Given the description of an element on the screen output the (x, y) to click on. 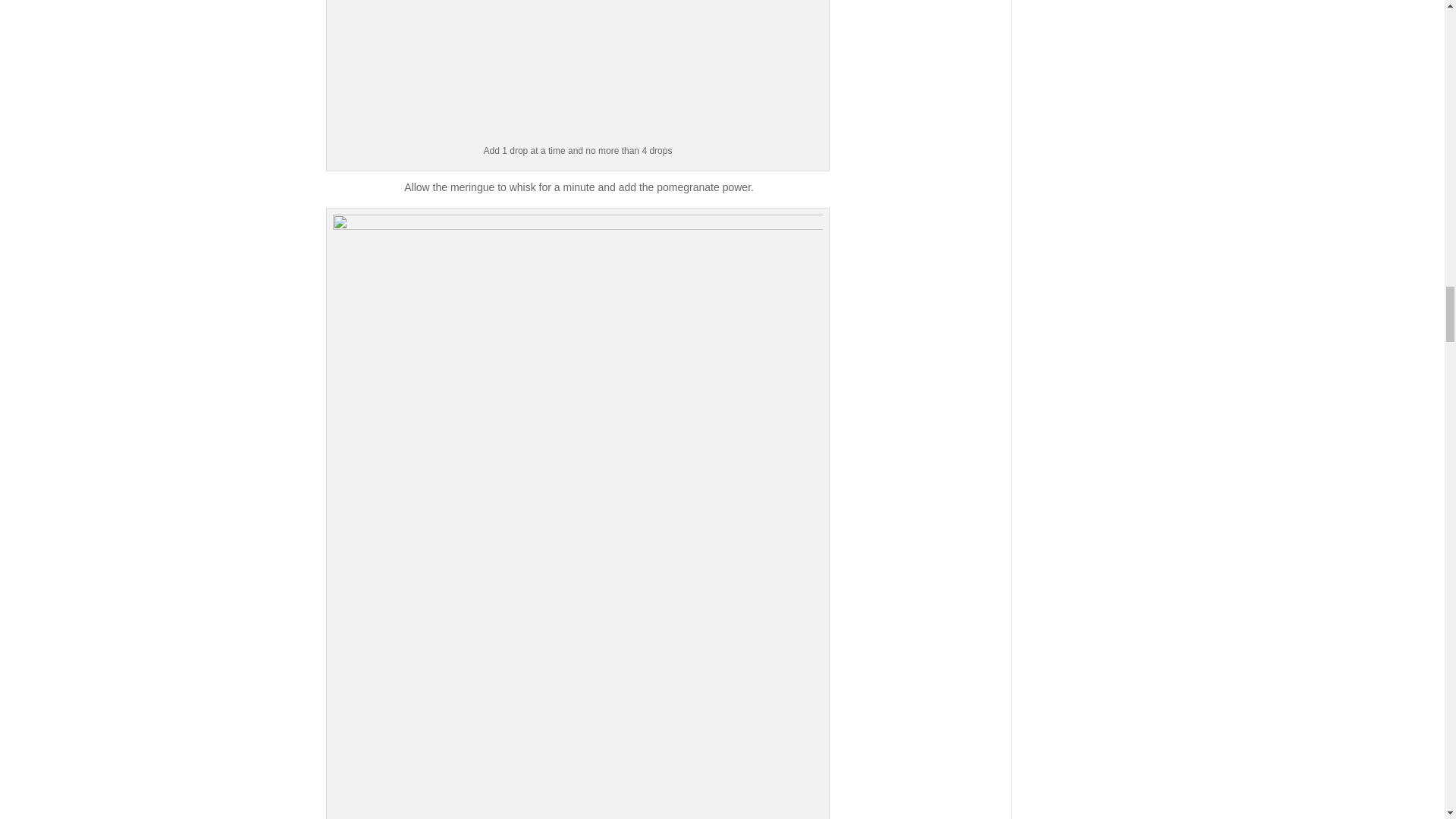
meringueessence (577, 71)
